Given the description of an element on the screen output the (x, y) to click on. 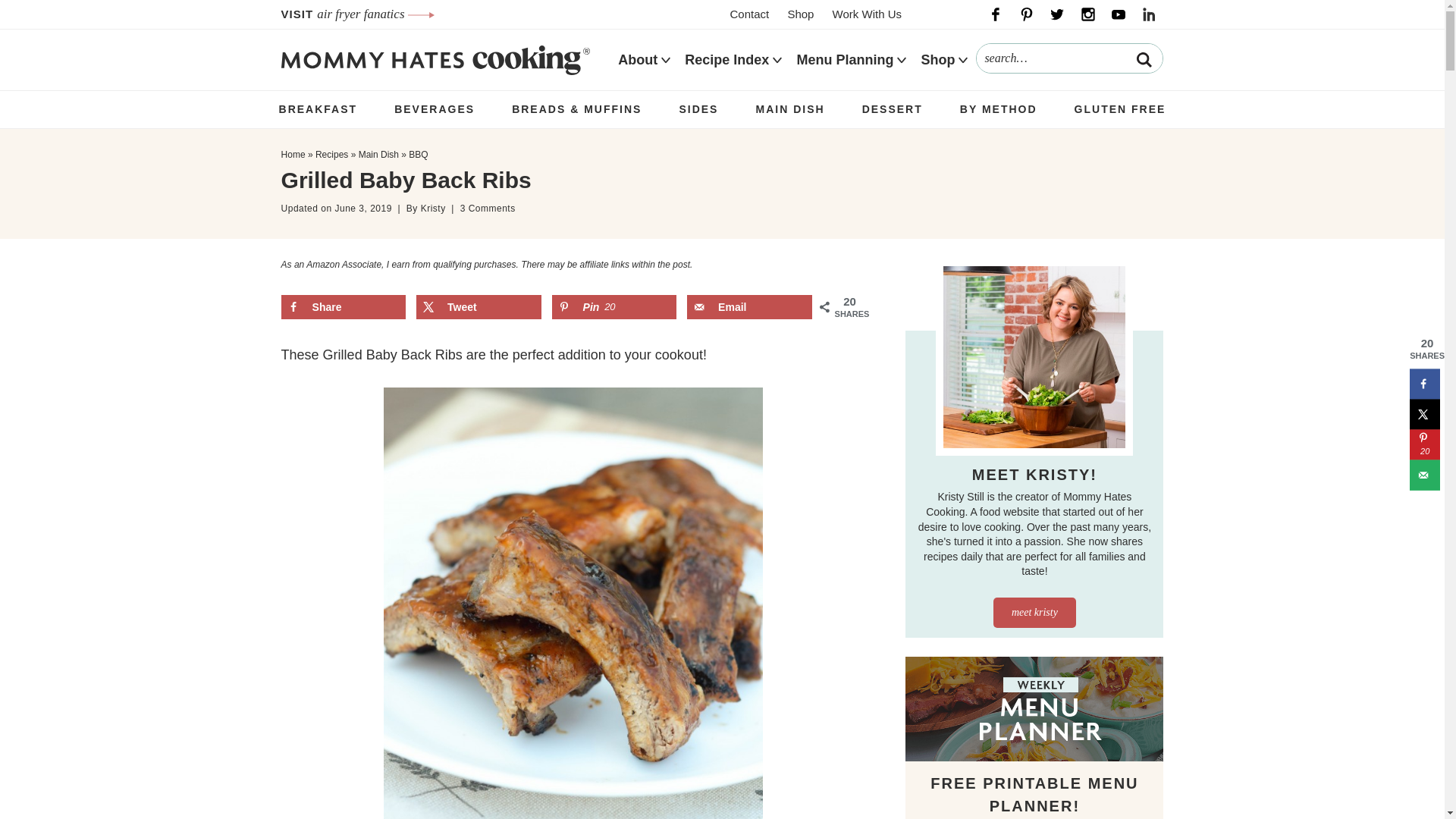
Shop (799, 13)
Share on X (1424, 413)
Share on Facebook (343, 306)
About (637, 59)
air fryer fanatics (375, 13)
Send over email (749, 306)
MOMMY HATES COOKING (435, 59)
Save to Pinterest (614, 306)
Share on Facebook (1424, 383)
Contact (749, 13)
Search for (1068, 58)
Work With Us (866, 13)
Share on X (478, 306)
Save to Pinterest (1424, 444)
